Given the description of an element on the screen output the (x, y) to click on. 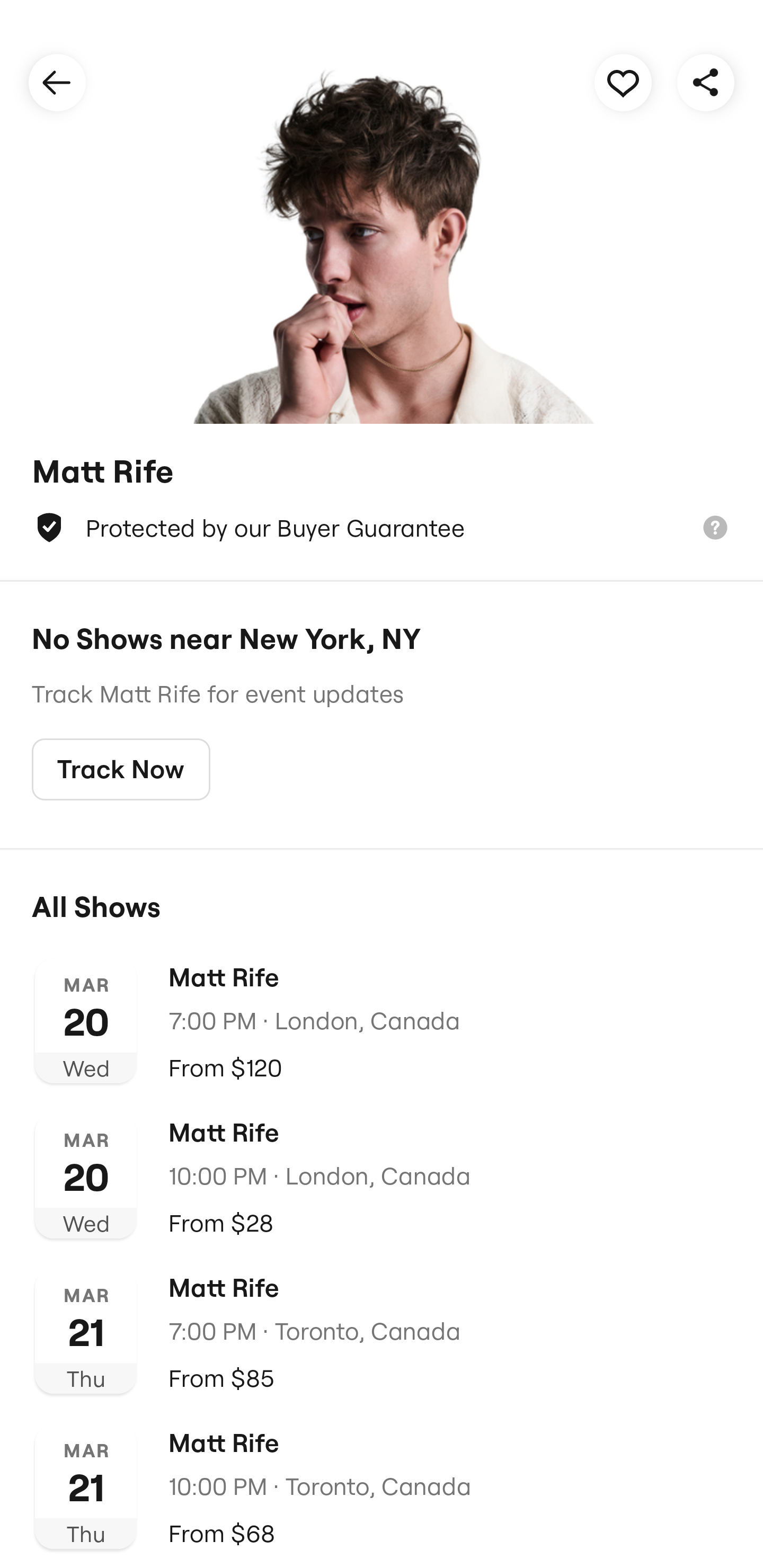
Back (57, 81)
Track this performer (623, 81)
Share this performer (705, 81)
Protected by our Buyer Guarantee Learn more (381, 527)
Track Now (121, 769)
